Given the description of an element on the screen output the (x, y) to click on. 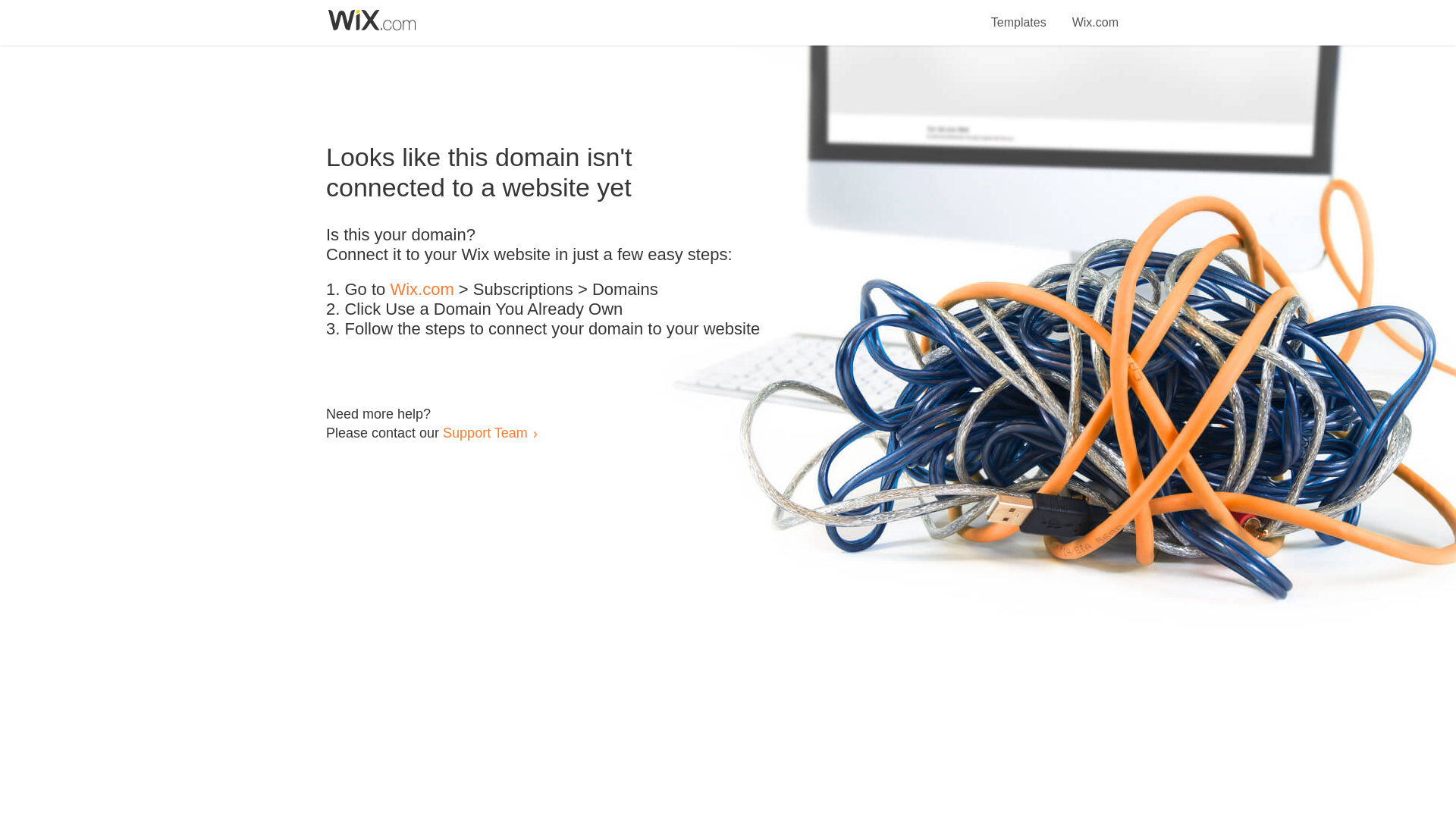
Wix.com (421, 289)
Support Team (484, 432)
Templates (1018, 14)
Wix.com (1095, 14)
